Given the description of an element on the screen output the (x, y) to click on. 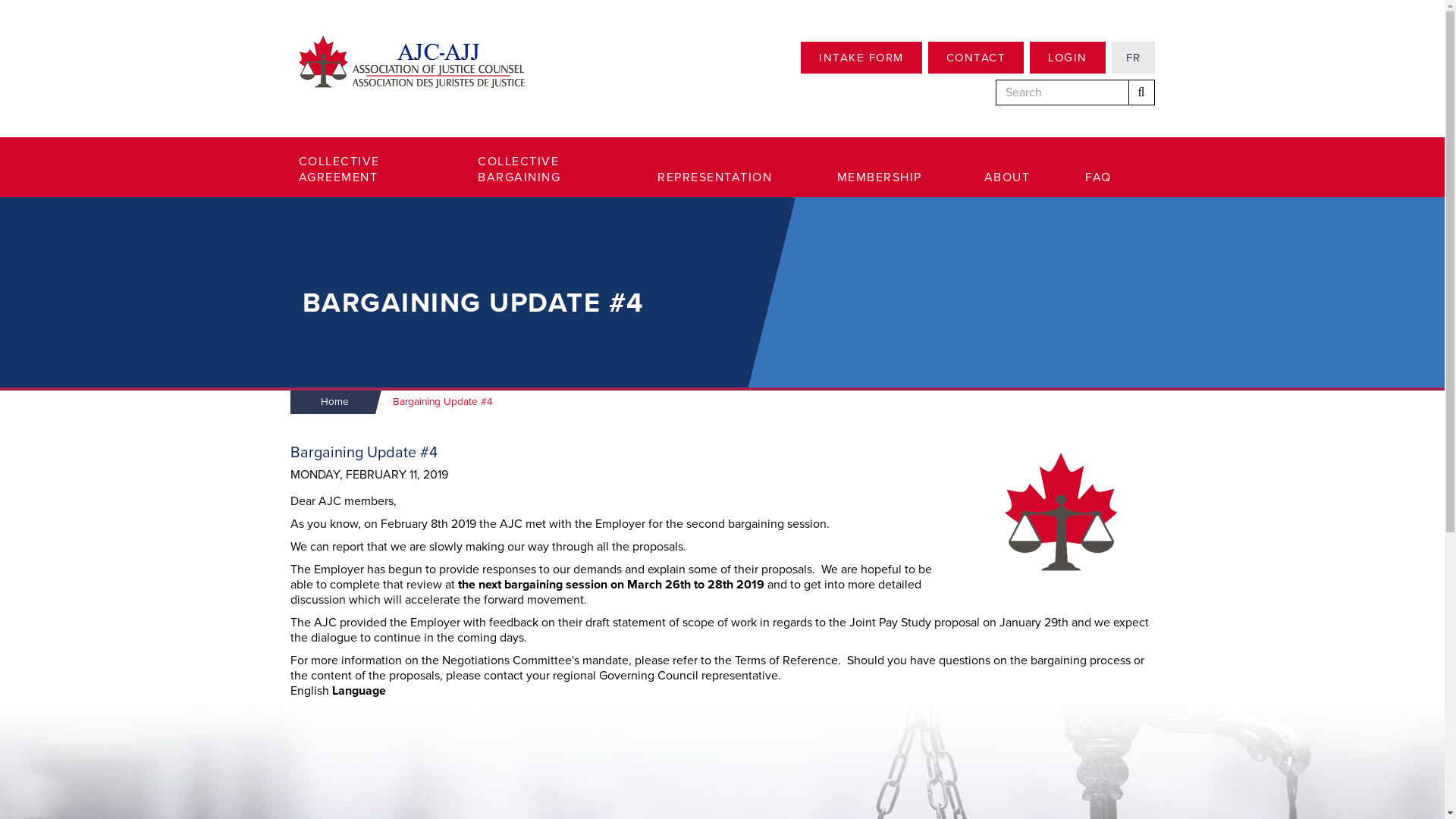
Home Element type: hover (408, 60)
ABOUT Element type: text (1014, 177)
COLLECTIVE BARGAINING Element type: text (547, 169)
Skip to main content Element type: text (0, 0)
Home Element type: text (328, 402)
FAQ Element type: text (1104, 177)
REPRESENTATION Element type: text (727, 177)
CONTACT Element type: text (976, 57)
Search Element type: text (1141, 92)
COLLECTIVE AGREEMENT Element type: text (368, 169)
LOGIN Element type: text (1067, 57)
INTAKE FORM Element type: text (861, 57)
MEMBERSHIP Element type: text (890, 177)
Search Element type: text (996, 108)
Enter the terms you wish to search for. Element type: hover (1062, 92)
